Given the description of an element on the screen output the (x, y) to click on. 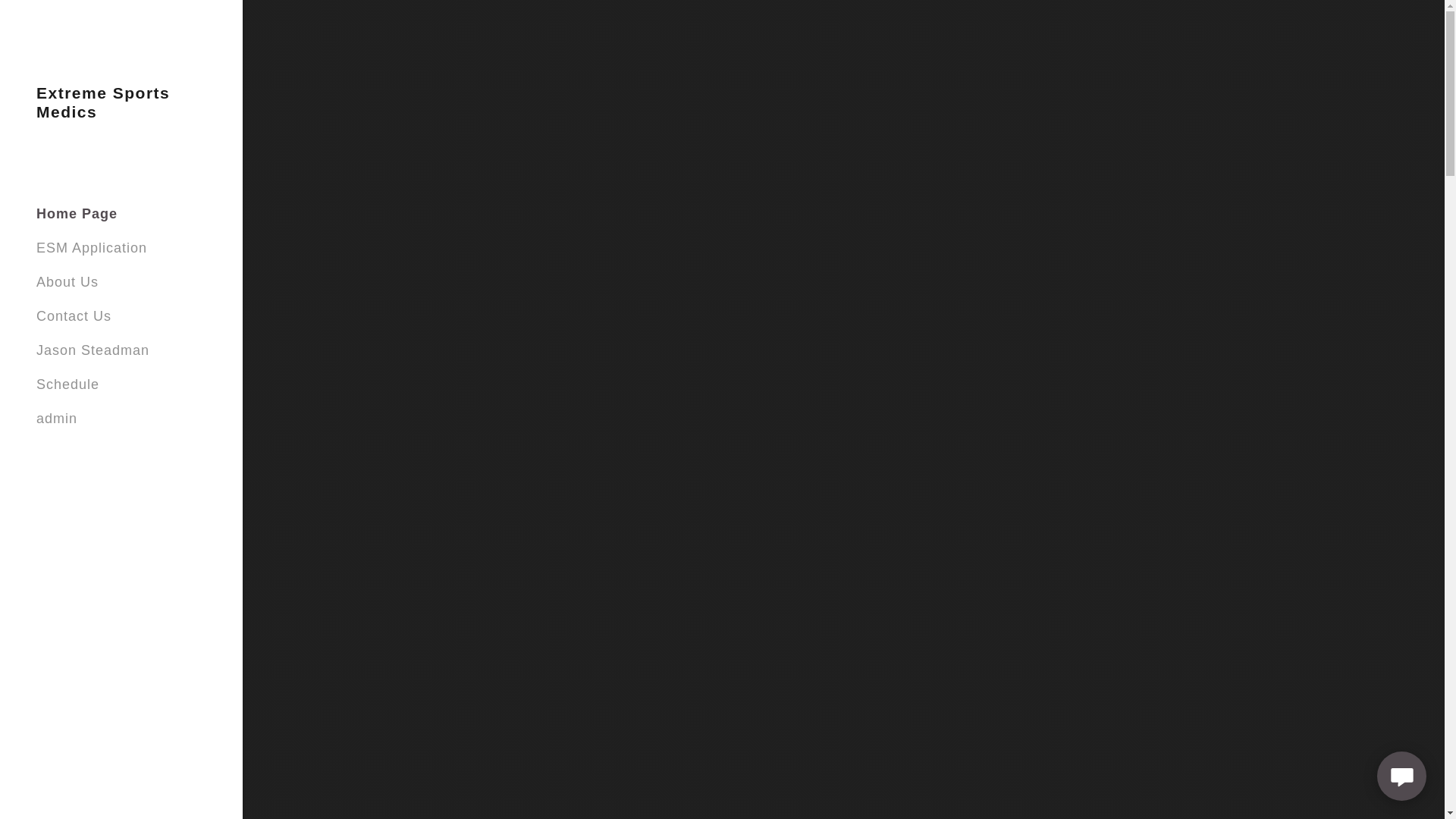
About Us (67, 281)
ESM Application (91, 247)
Extreme Sports Medics (121, 112)
Extreme Sports Medics (121, 112)
Jason Steadman (92, 350)
Schedule (67, 384)
Contact Us (74, 315)
admin (56, 418)
Home Page (76, 213)
